Given the description of an element on the screen output the (x, y) to click on. 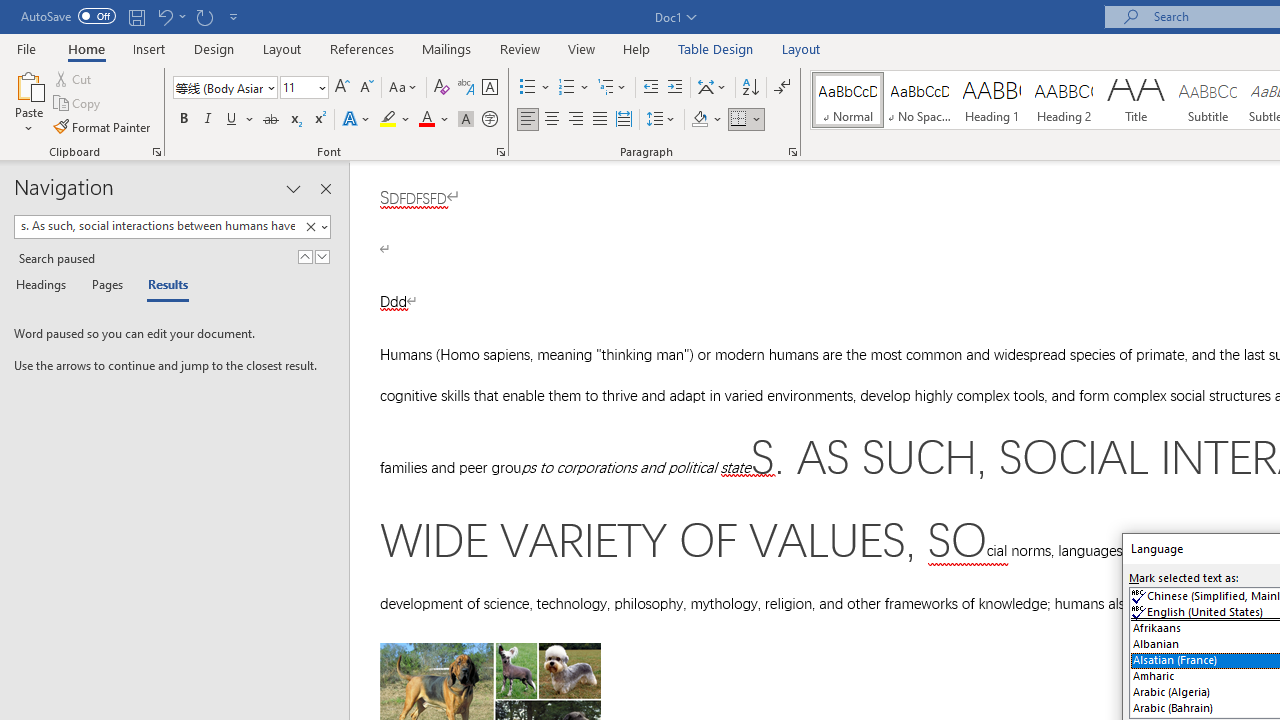
Review (520, 48)
Design (214, 48)
Underline (232, 119)
Sort... (750, 87)
Font... (500, 151)
Subtitle (1208, 100)
Subscript (294, 119)
Enclose Characters... (489, 119)
Decrease Indent (650, 87)
Character Border (489, 87)
Cut (73, 78)
Save (136, 15)
Clear Formatting (442, 87)
Undo Style (164, 15)
